Given the description of an element on the screen output the (x, y) to click on. 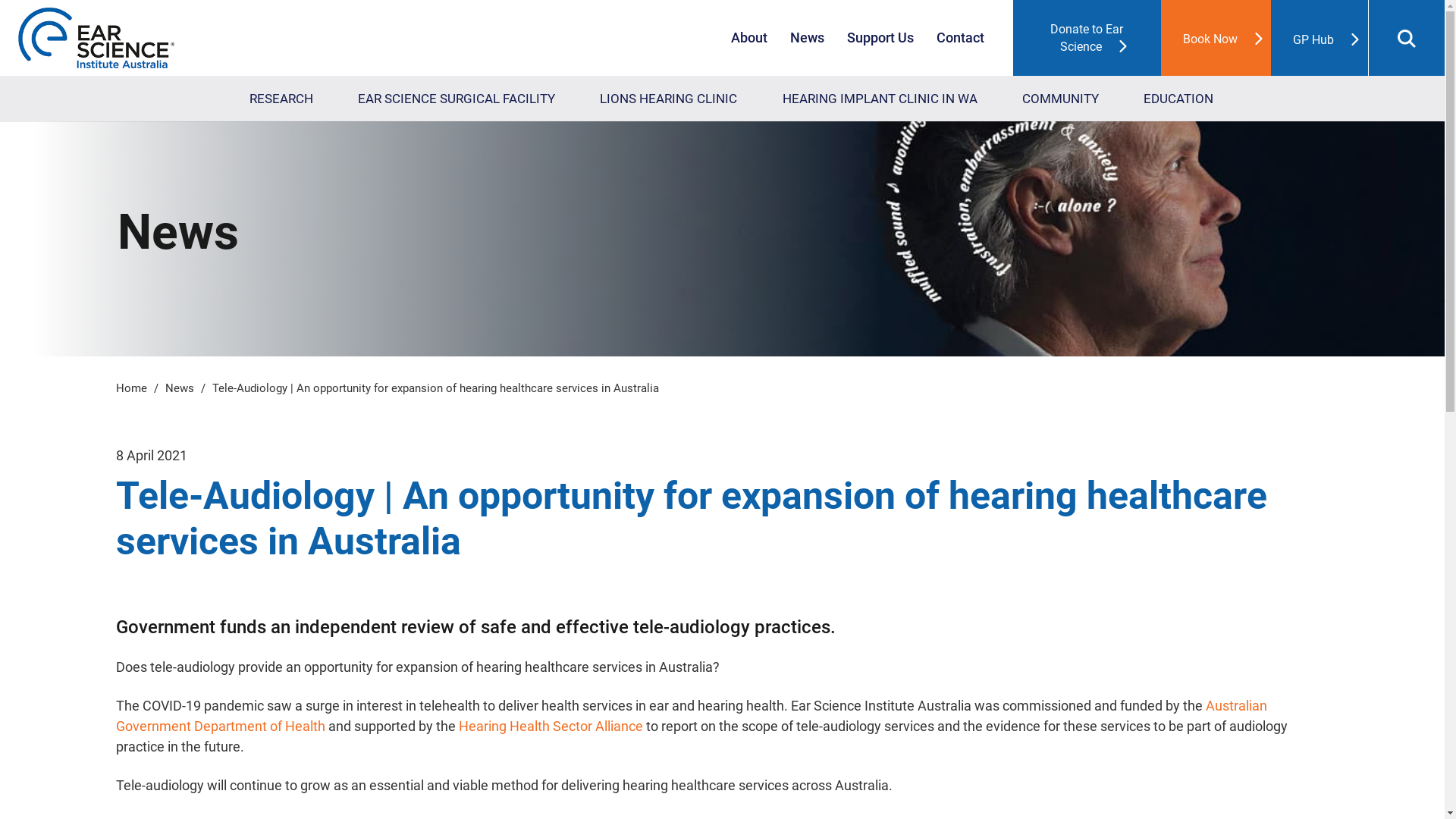
Donate to Ear Science Element type: text (1087, 37)
News Element type: text (806, 37)
EAR SCIENCE SURGICAL FACILITY Element type: text (456, 98)
About Element type: text (748, 37)
EDUCATION Element type: text (1177, 98)
Support Us Element type: text (880, 37)
Book Now Element type: text (1216, 37)
Contact Element type: text (960, 37)
COMMUNITY Element type: text (1060, 98)
News Element type: text (179, 388)
Australian Government Department of Health Element type: text (690, 715)
Home Element type: text (130, 388)
HEARING IMPLANT CLINIC IN WA Element type: text (880, 98)
RESEARCH Element type: text (280, 98)
LIONS HEARING CLINIC Element type: text (668, 98)
GP Hub Element type: text (1319, 38)
Hearing Health Sector Alliance Element type: text (550, 726)
